Given the description of an element on the screen output the (x, y) to click on. 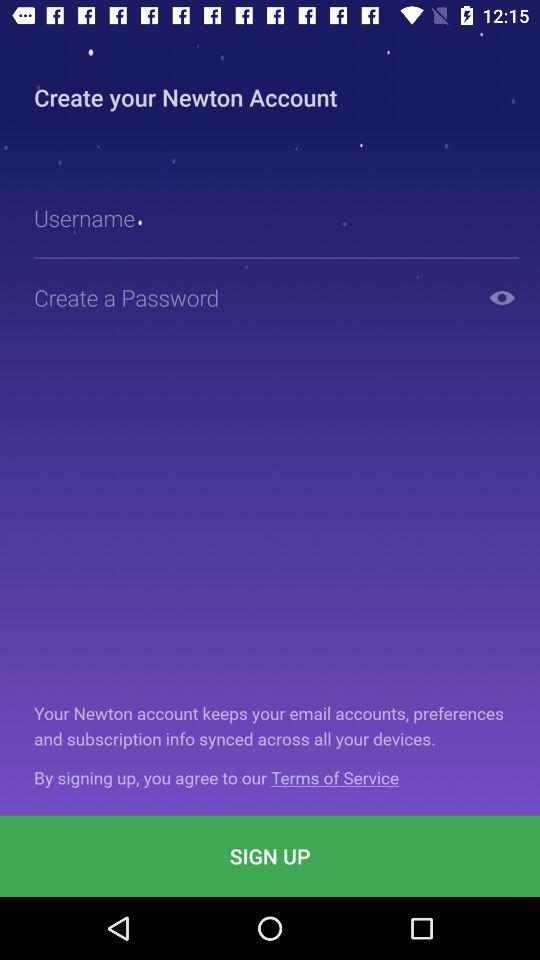
type your password (251, 297)
